Given the description of an element on the screen output the (x, y) to click on. 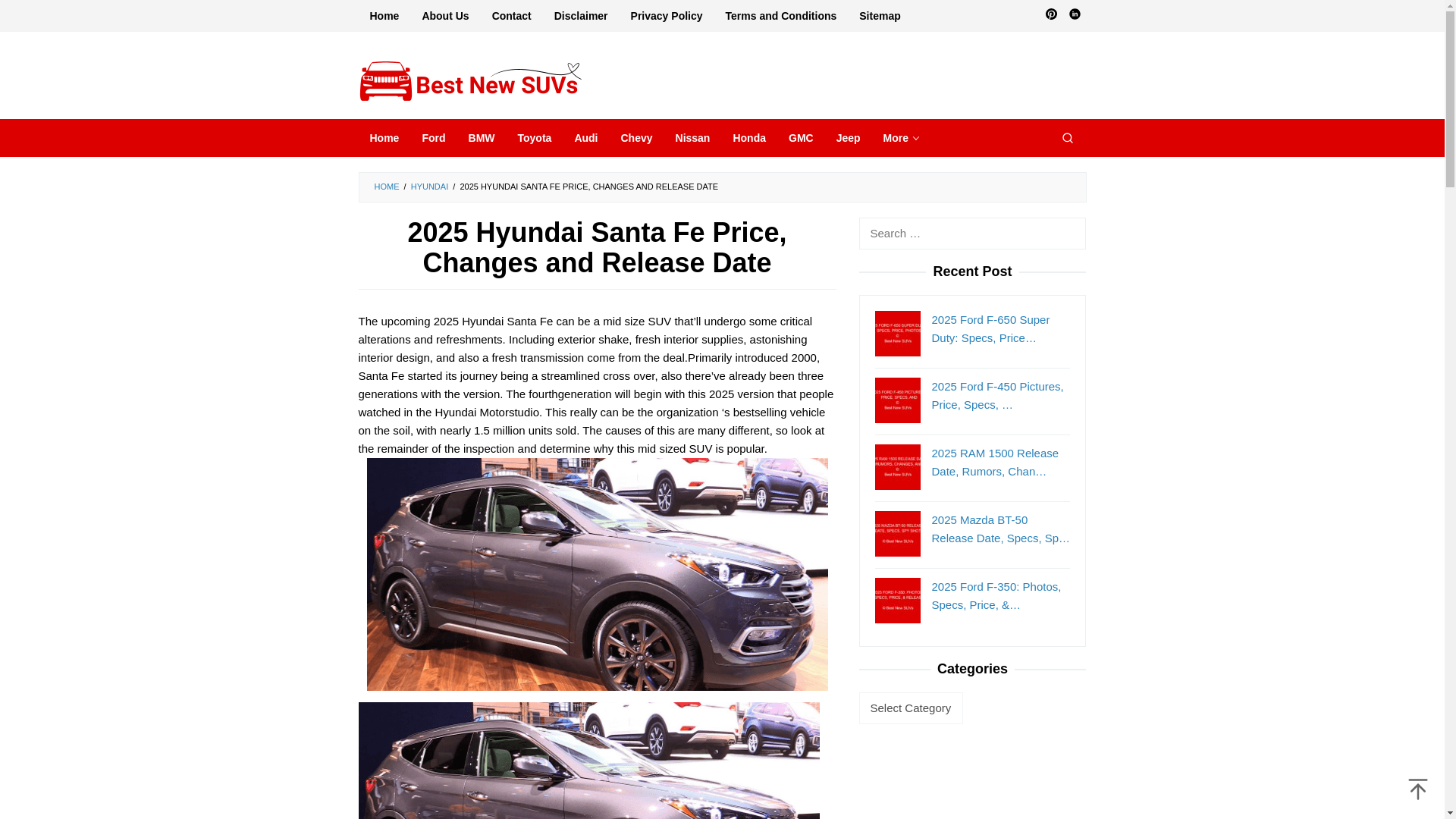
2025 Hyundai Santa Fe Price, Changes And Release Date (588, 815)
GMC (801, 137)
Chevy (635, 137)
Nissan (692, 137)
Home (384, 15)
Search (1067, 137)
Audi (585, 137)
Sitemap (879, 15)
Terms and Conditions (781, 15)
Home (384, 137)
